Given the description of an element on the screen output the (x, y) to click on. 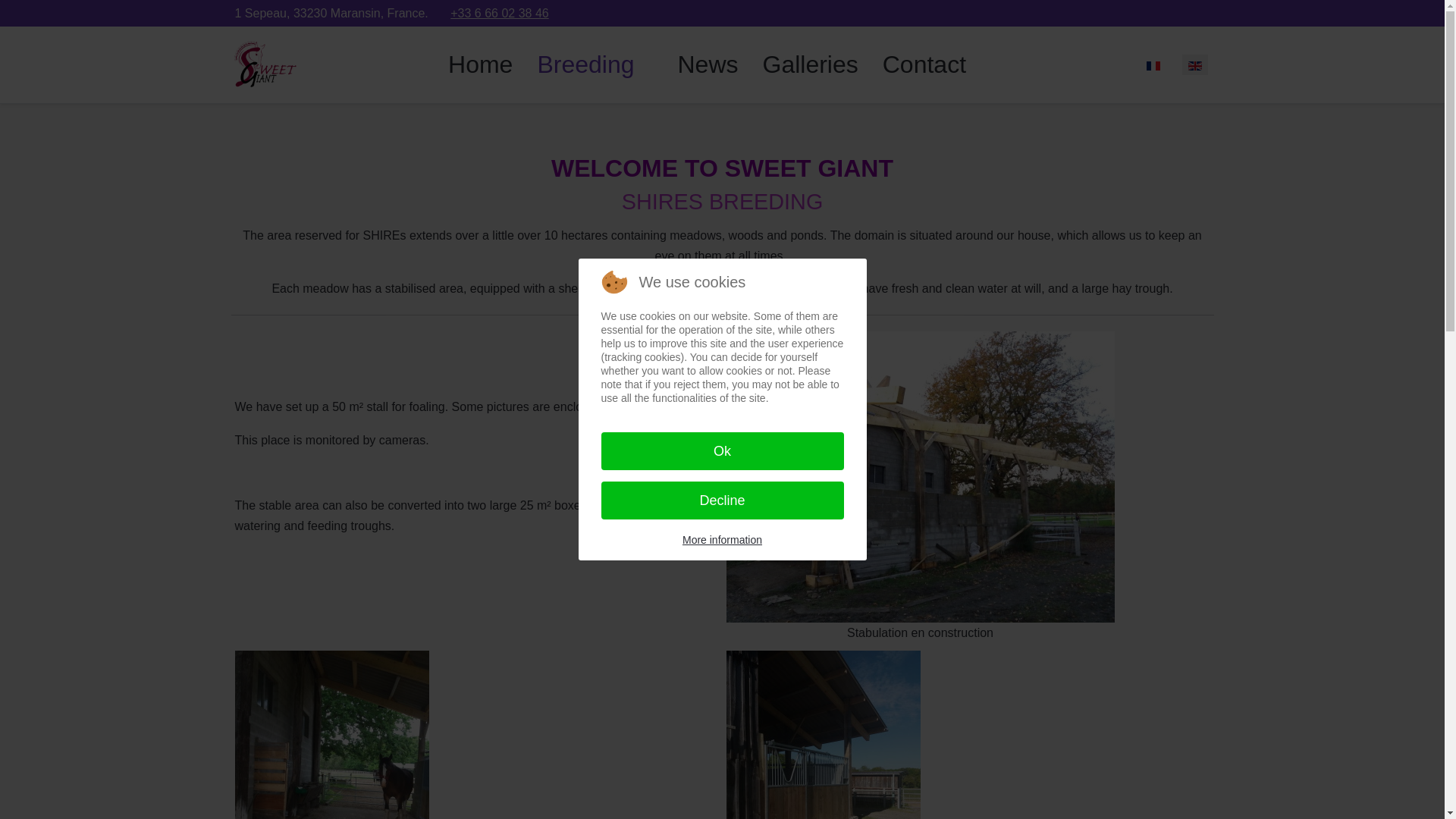
Galleries (809, 63)
Breeding (594, 63)
News (707, 63)
Home (479, 63)
Home (479, 63)
Contact (924, 63)
